Given the description of an element on the screen output the (x, y) to click on. 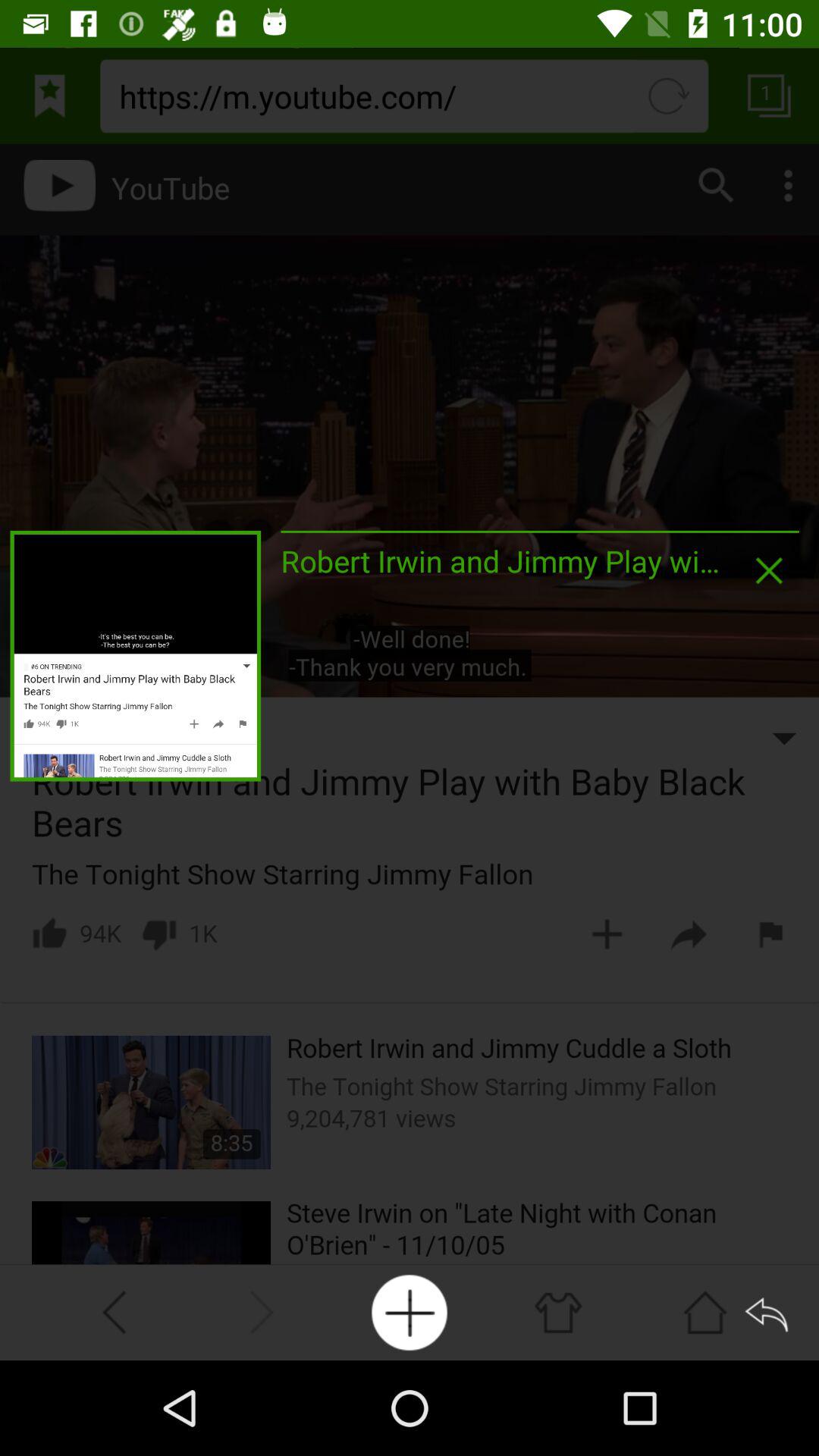
share button (769, 1312)
